Given the description of an element on the screen output the (x, y) to click on. 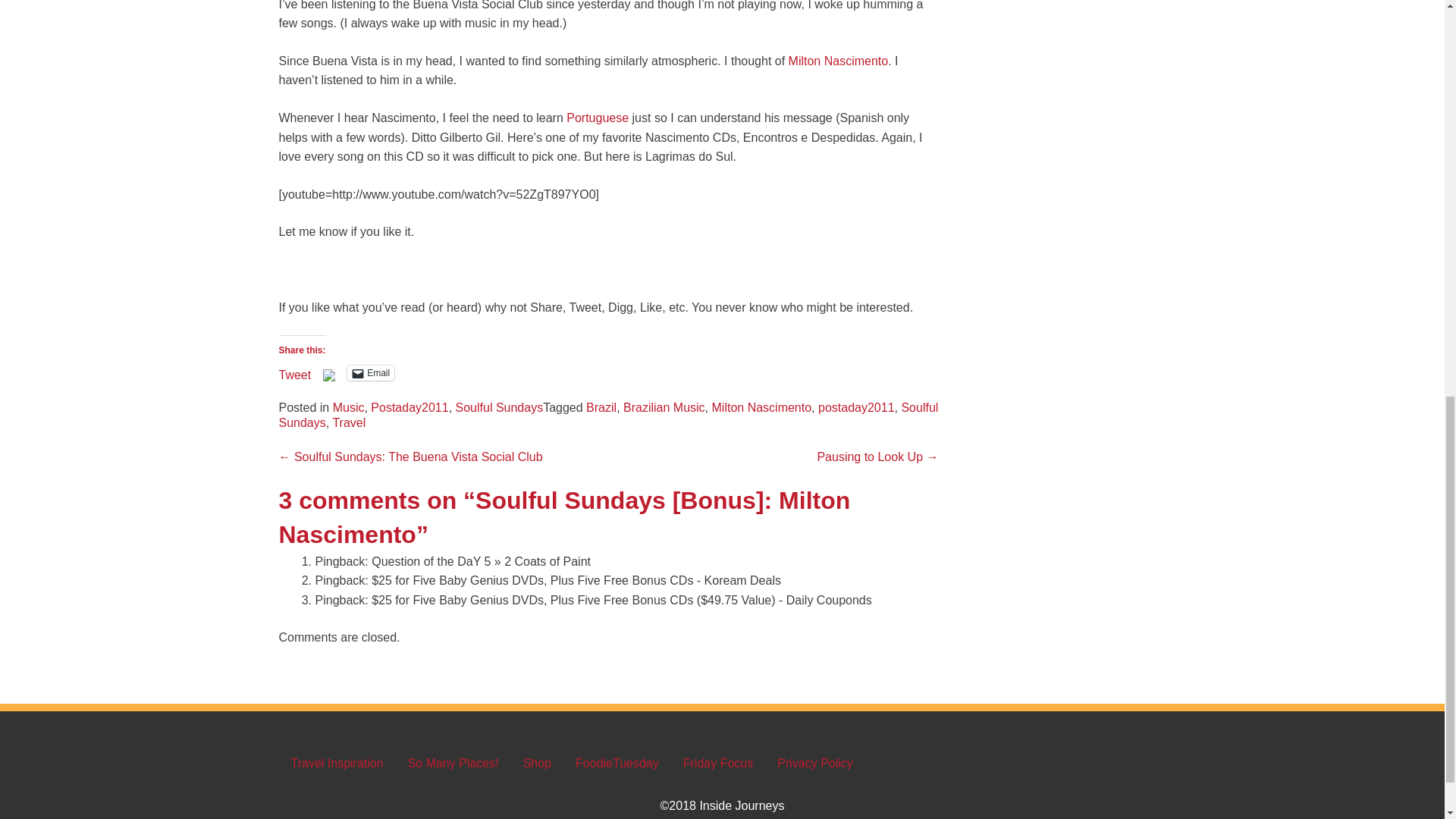
Click to email a link to a friend (370, 372)
Milton Nascimento (838, 60)
Portuguese language (597, 117)
